Given the description of an element on the screen output the (x, y) to click on. 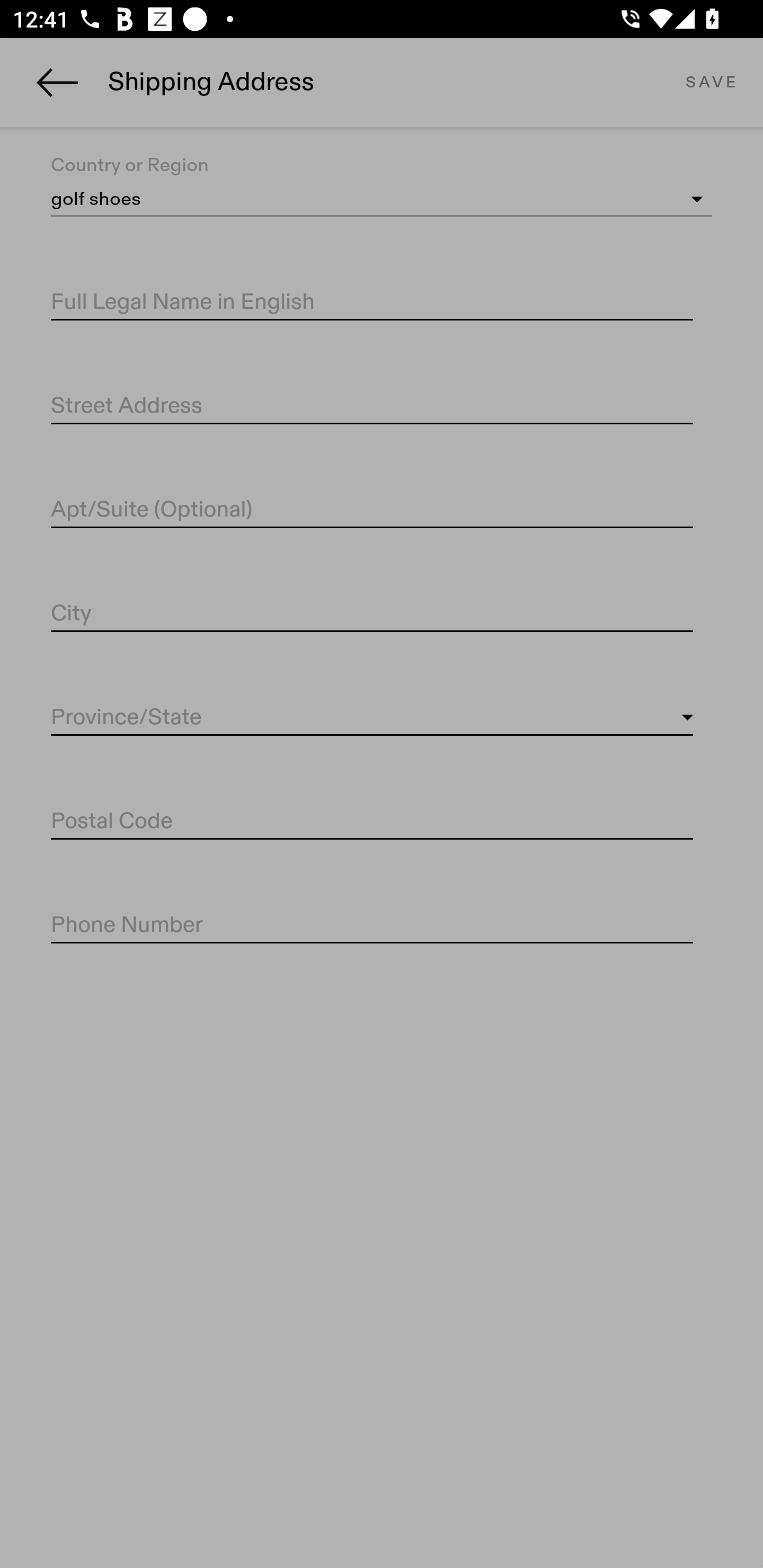
Navigate up (56, 82)
SAVE (710, 81)
golf shoes (381, 199)
Full Legal Name in English (371, 302)
Street Address (371, 406)
Apt/Suite (Optional) (371, 509)
City (371, 614)
Province/State (371, 717)
Postal Code (371, 821)
Phone Number (371, 925)
